Given the description of an element on the screen output the (x, y) to click on. 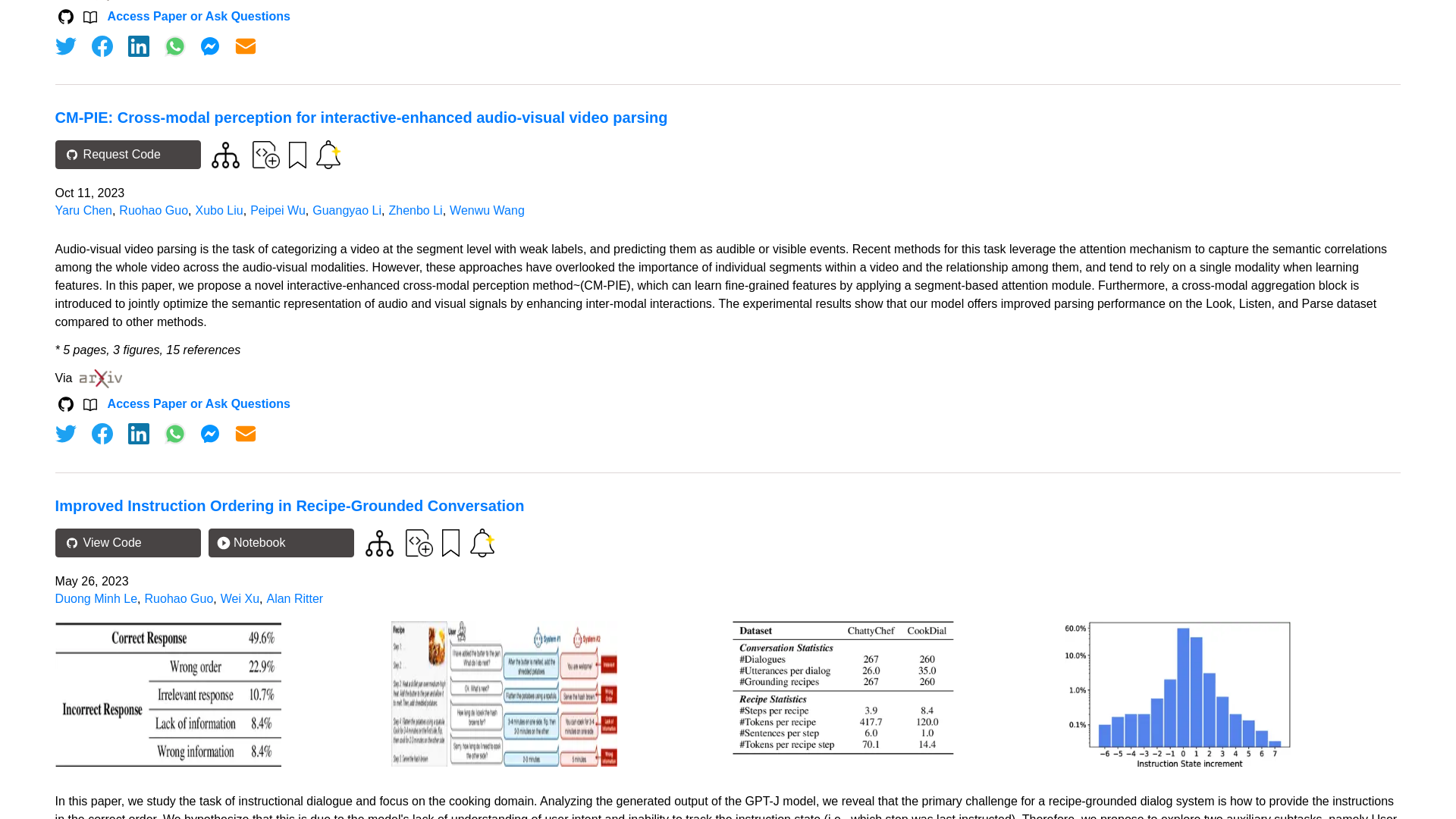
Share via Email (245, 46)
